Given the description of an element on the screen output the (x, y) to click on. 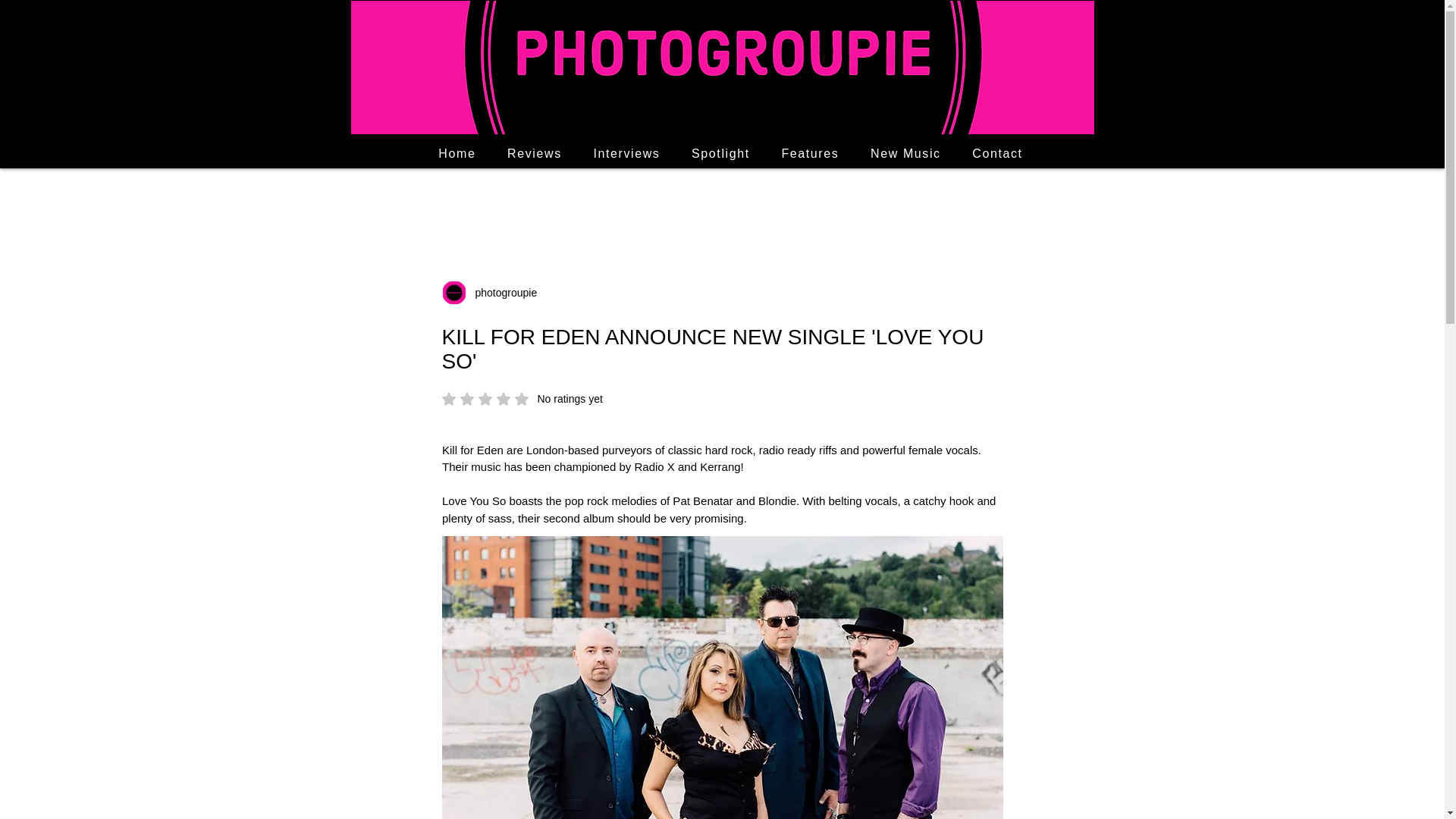
Contact (997, 153)
Home (457, 153)
photogroupie (501, 293)
Interviews (626, 153)
Features (809, 153)
Spotlight (521, 398)
New Music (719, 153)
